Given the description of an element on the screen output the (x, y) to click on. 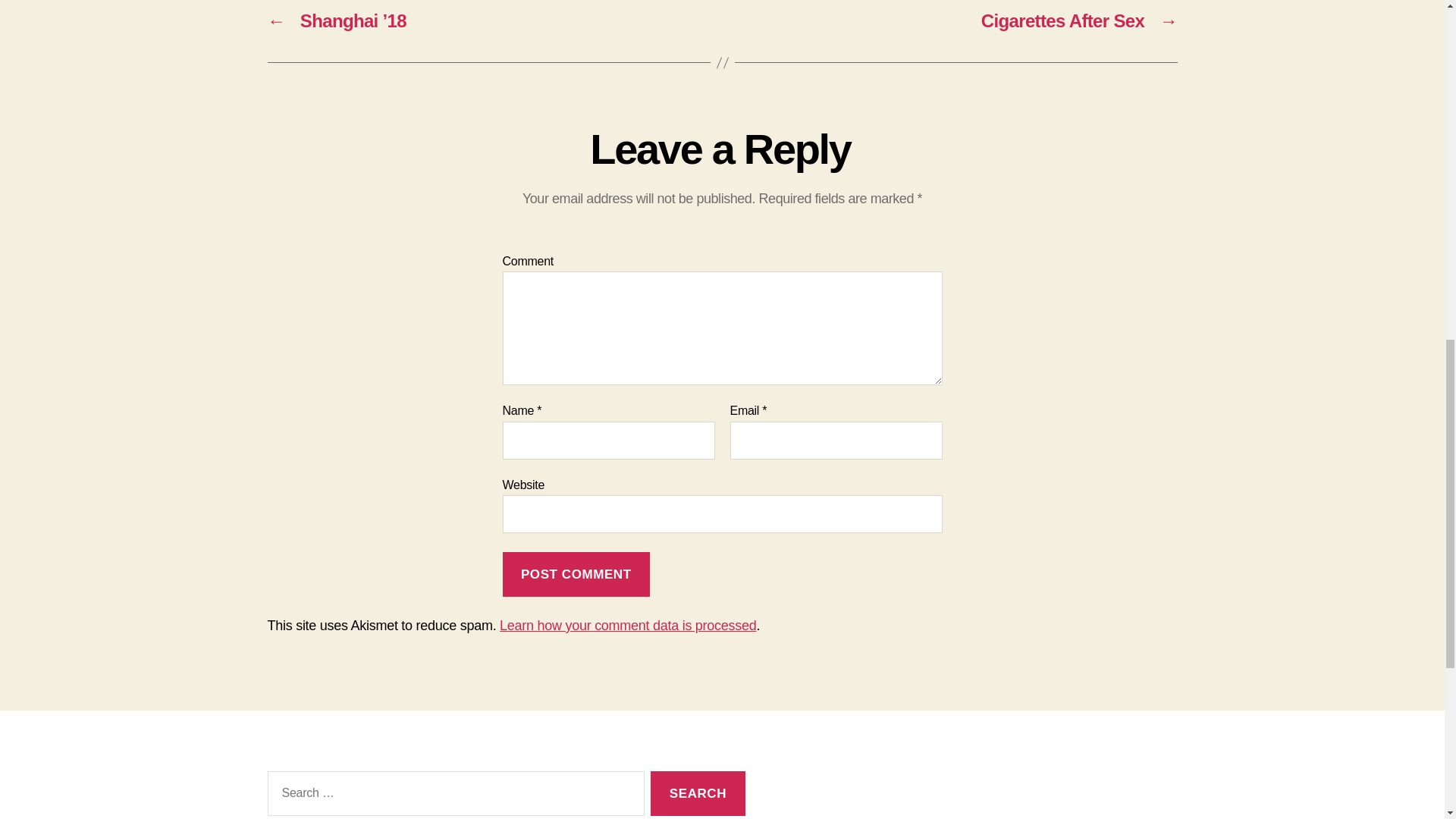
Learn how your comment data is processed (627, 625)
Search (697, 793)
Post Comment (575, 574)
Search (697, 793)
Search (697, 793)
Post Comment (575, 574)
